Given the description of an element on the screen output the (x, y) to click on. 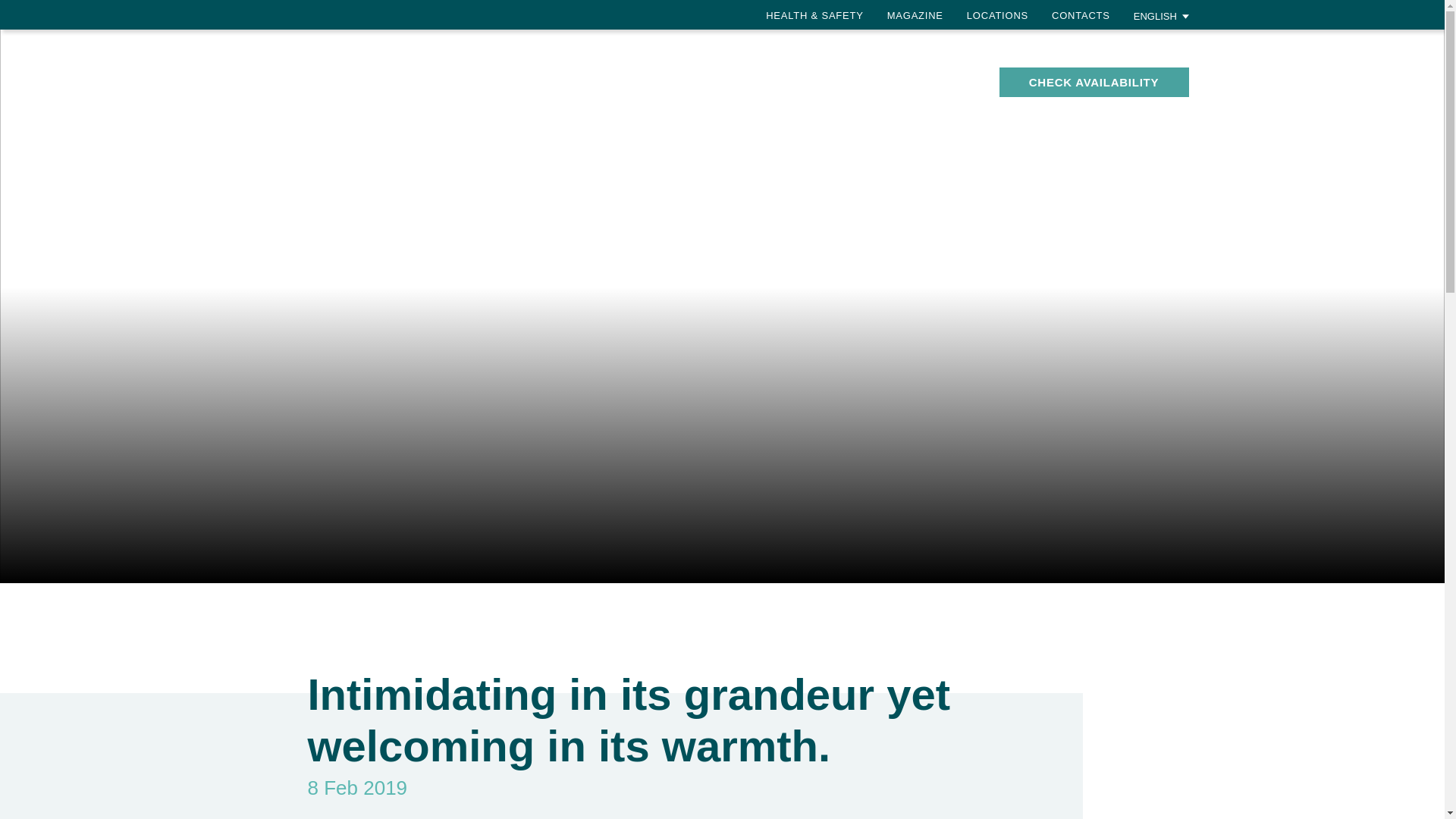
LOCATIONS (996, 15)
CONTACTS (1080, 15)
TRIP IDEAS (848, 81)
OUR BRANDS (400, 81)
FOR BUSINESS (754, 81)
MAGAZINE (914, 15)
MEETINGS (946, 72)
CHECK AVAILABILITY (1093, 82)
ENGLISH (1161, 15)
HOTELS (495, 72)
OFFERS (678, 72)
RESTAURANTS (586, 72)
